Given the description of an element on the screen output the (x, y) to click on. 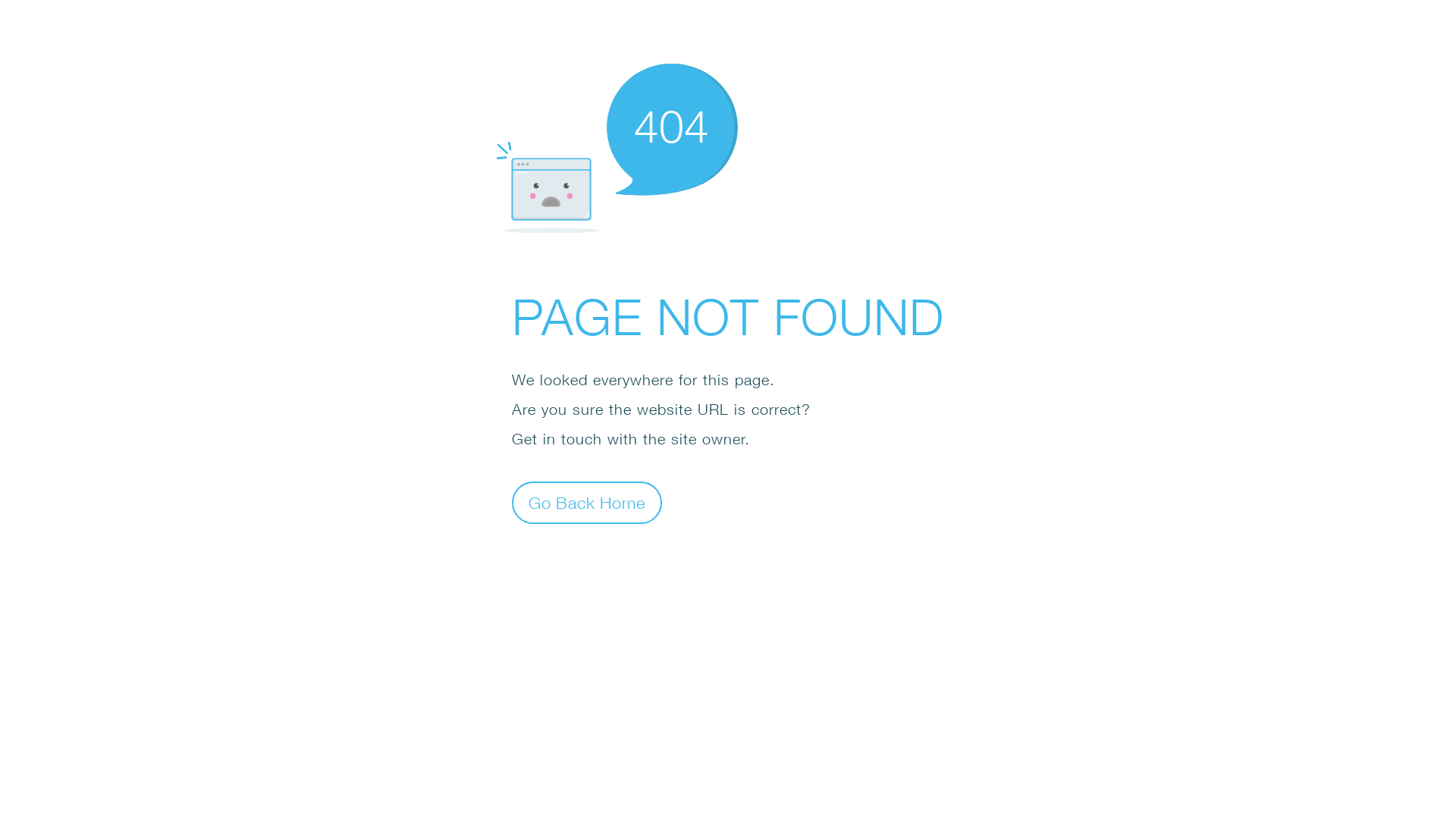
Go Back Home Element type: text (586, 502)
